Given the description of an element on the screen output the (x, y) to click on. 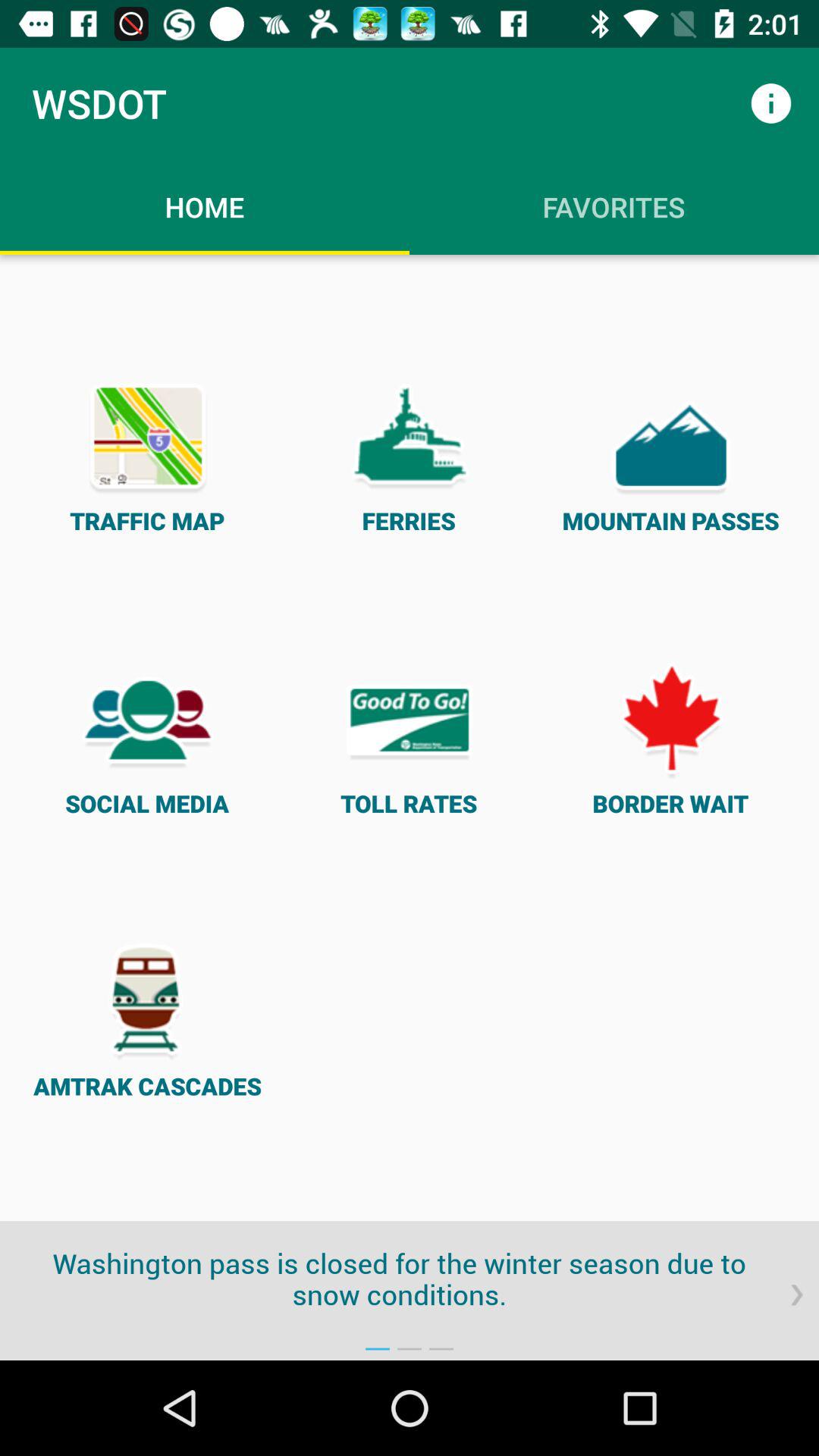
swipe until the washington pass is (409, 1279)
